Given the description of an element on the screen output the (x, y) to click on. 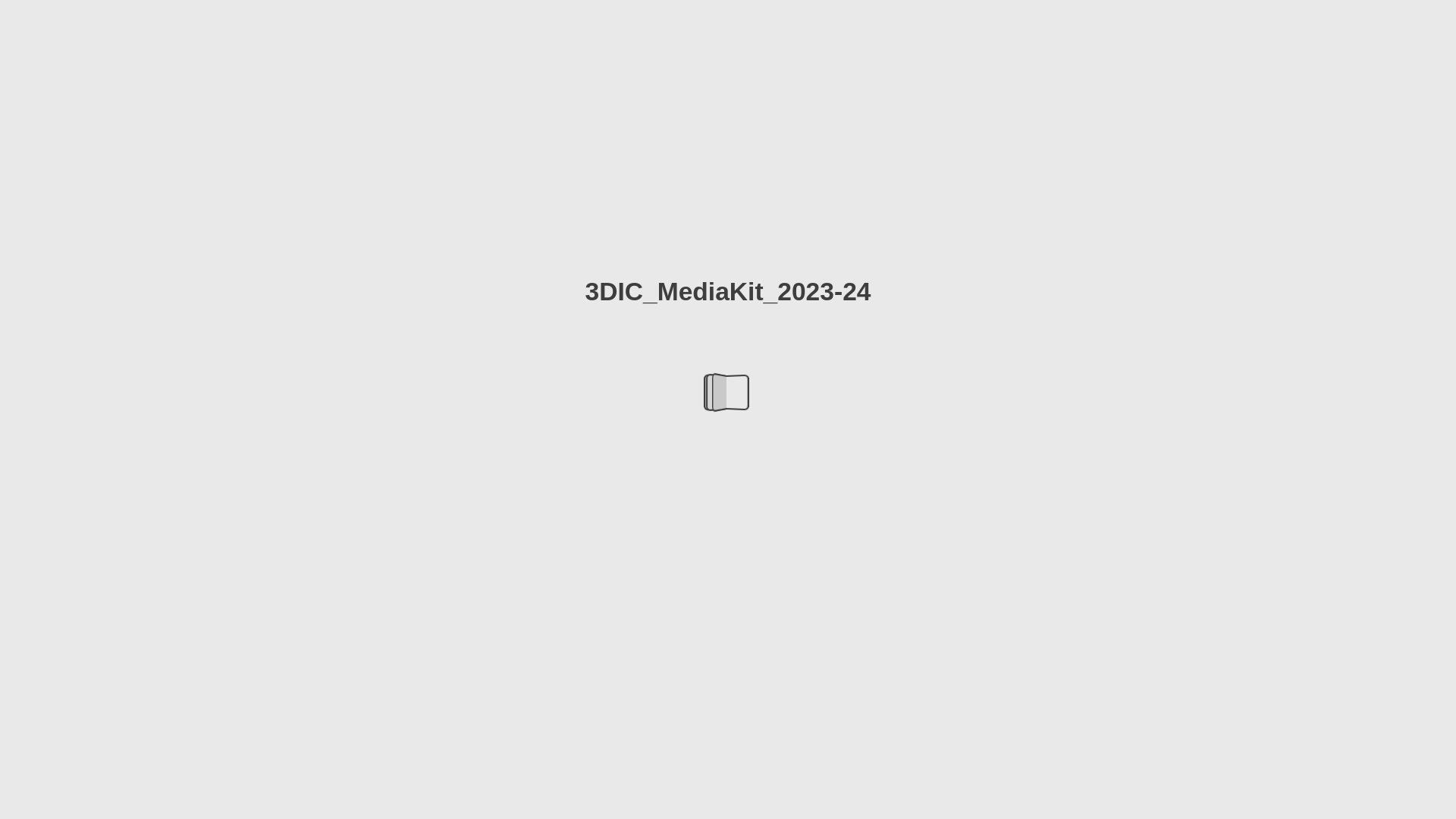
Share Element type: hover (695, 801)
Notes Element type: hover (648, 801)
Download Element type: hover (738, 801)
Last Page Element type: hover (1013, 758)
Thumbnails Element type: hover (627, 801)
Add Note Element type: hover (1016, 60)
Print Element type: hover (717, 801)
Next Page Element type: hover (1013, 409)
Toggle Sound Element type: hover (785, 801)
Fullscreen Element type: hover (827, 801)
Search Element type: hover (1435, 16)
Zoom In Element type: hover (806, 801)
